Given the description of an element on the screen output the (x, y) to click on. 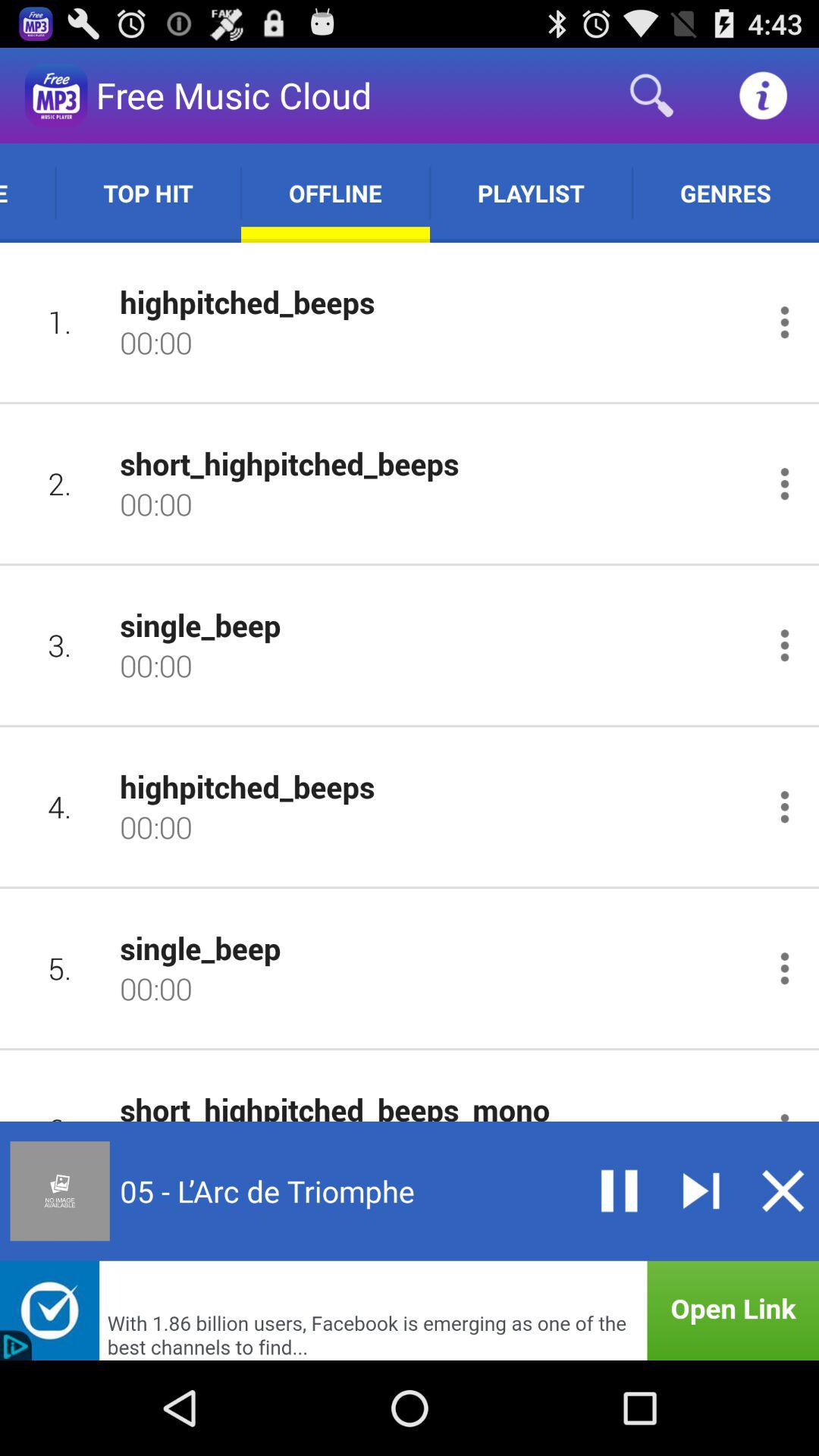
scroll to 6. icon (59, 1100)
